Given the description of an element on the screen output the (x, y) to click on. 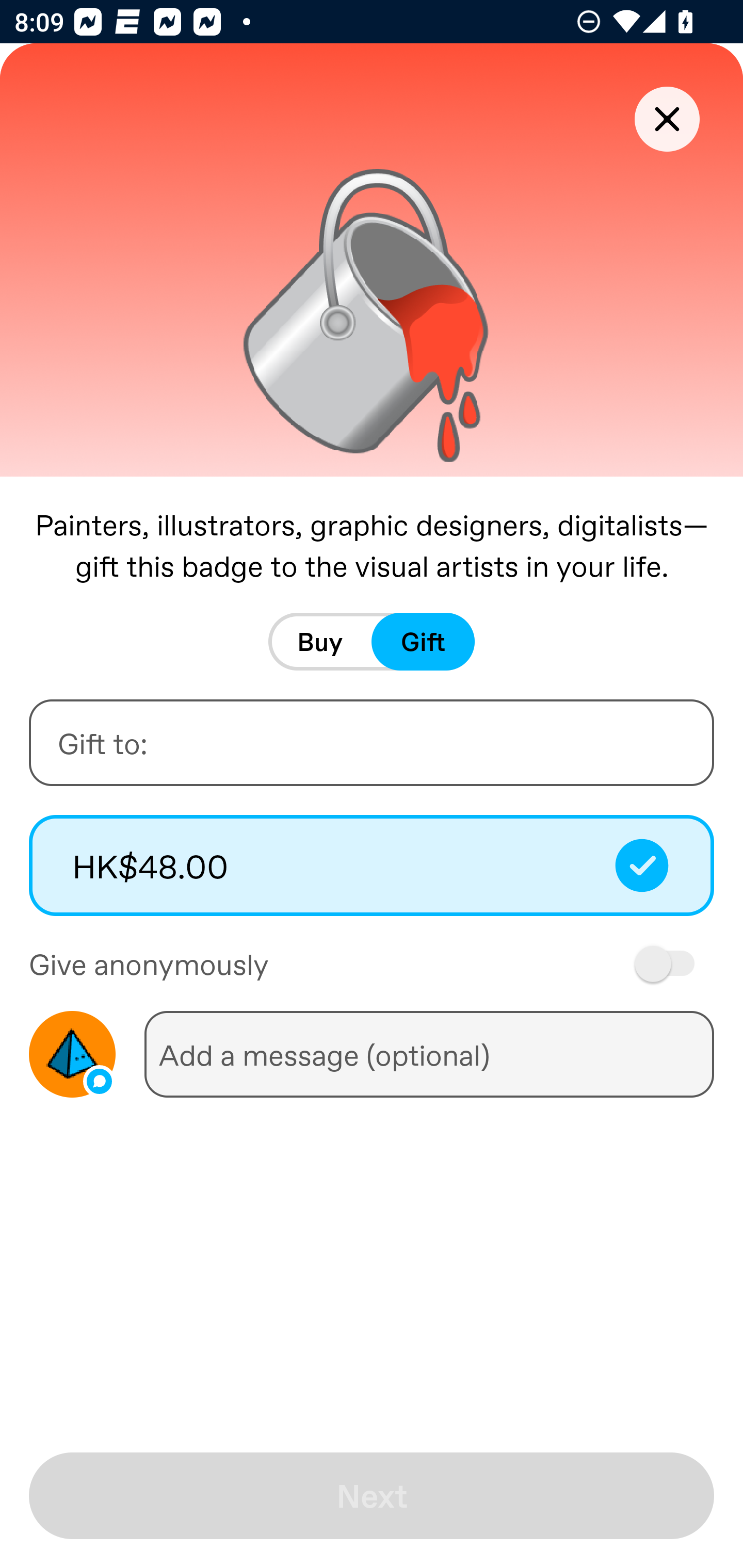
Buy (319, 642)
Gift (423, 642)
Gift to: (371, 742)
Add a message (optional) (429, 1054)
Next (371, 1495)
